Given the description of an element on the screen output the (x, y) to click on. 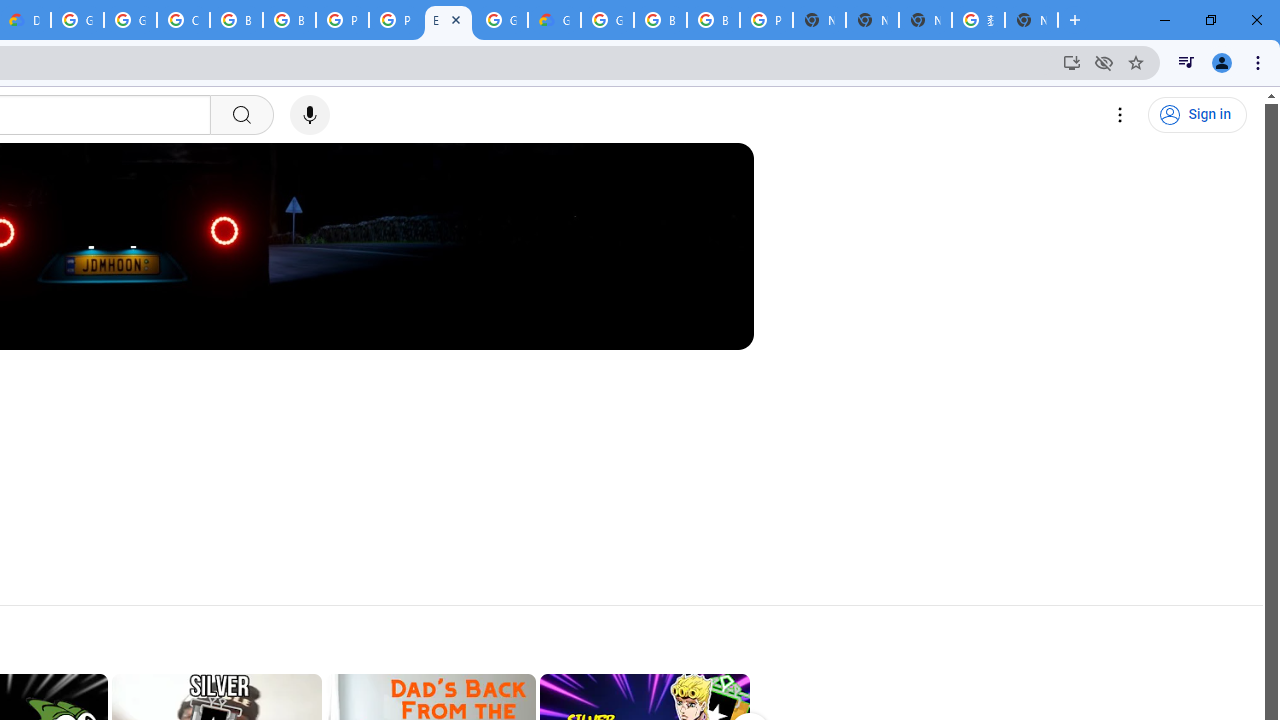
Search with your voice (309, 115)
